Given the description of an element on the screen output the (x, y) to click on. 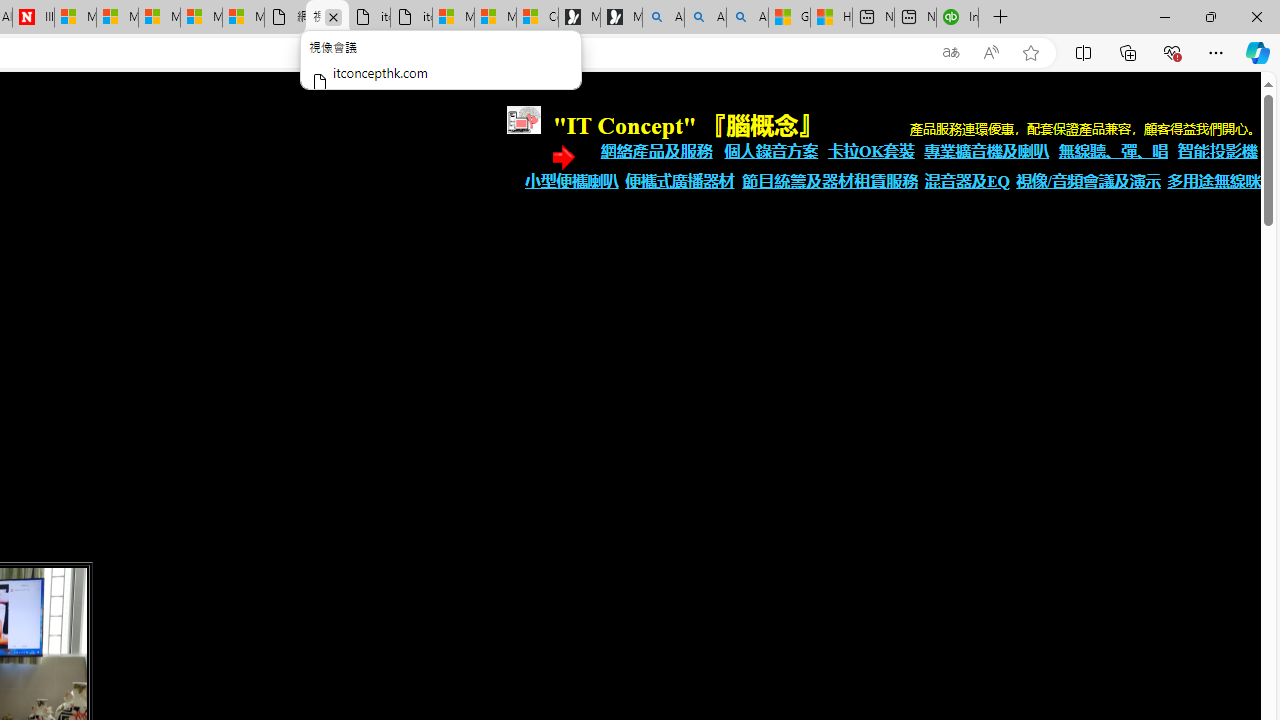
itconcepthk.com/projector_solutions.mp4 (411, 17)
Illness news & latest pictures from Newsweek.com (32, 17)
